Given the description of an element on the screen output the (x, y) to click on. 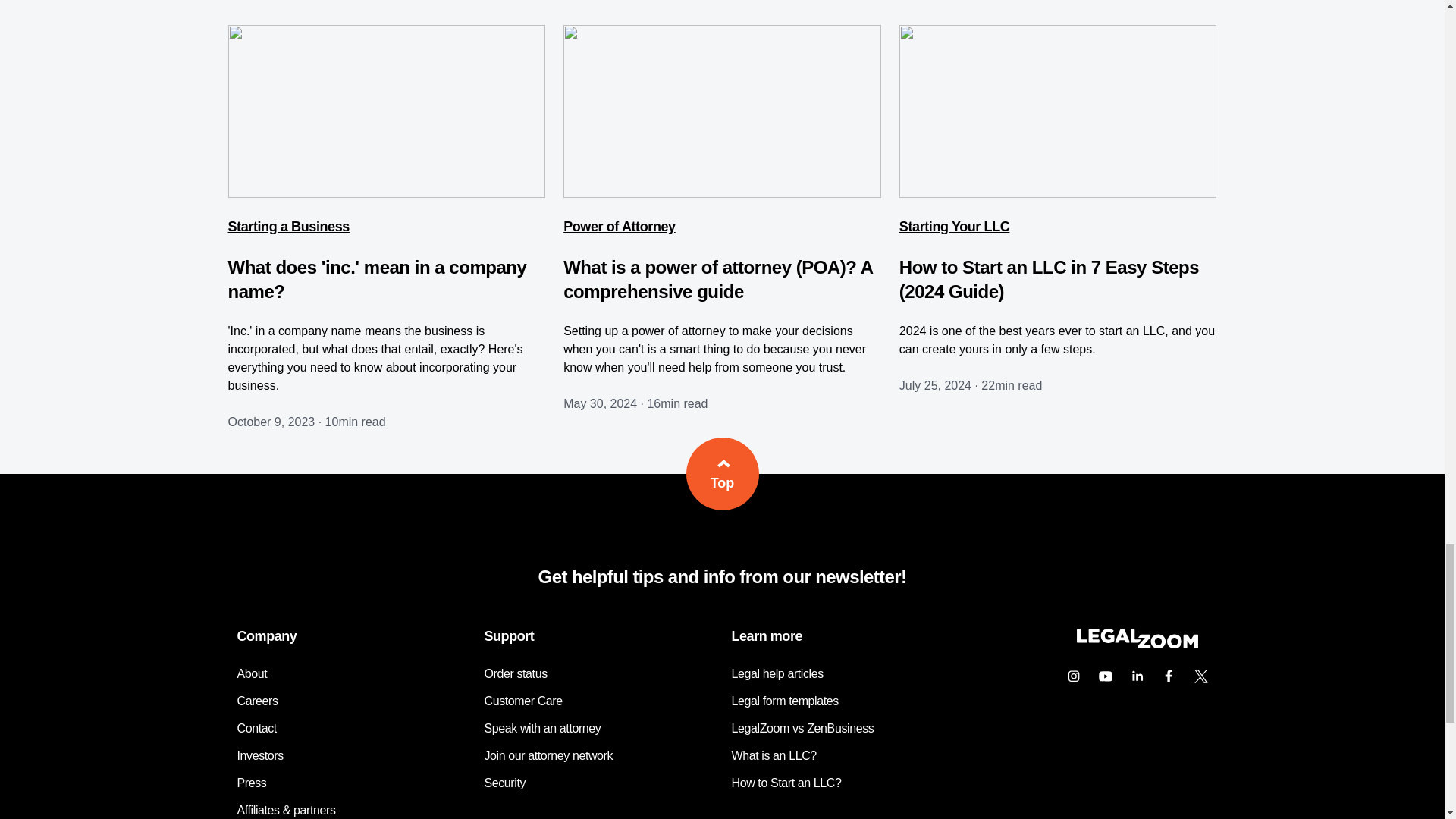
Instagram (1073, 676)
Facebook (1169, 676)
Starting Your LLC (954, 226)
Press (250, 782)
What does 'inc.' mean in a company name? (376, 279)
Twitter (1200, 676)
Contact (255, 727)
Power of Attorney (619, 226)
Back to top (721, 473)
YouTube (1105, 676)
LinkedIn (1137, 676)
Investors (258, 755)
Top (721, 473)
LegalZoom (1136, 644)
About (250, 673)
